Given the description of an element on the screen output the (x, y) to click on. 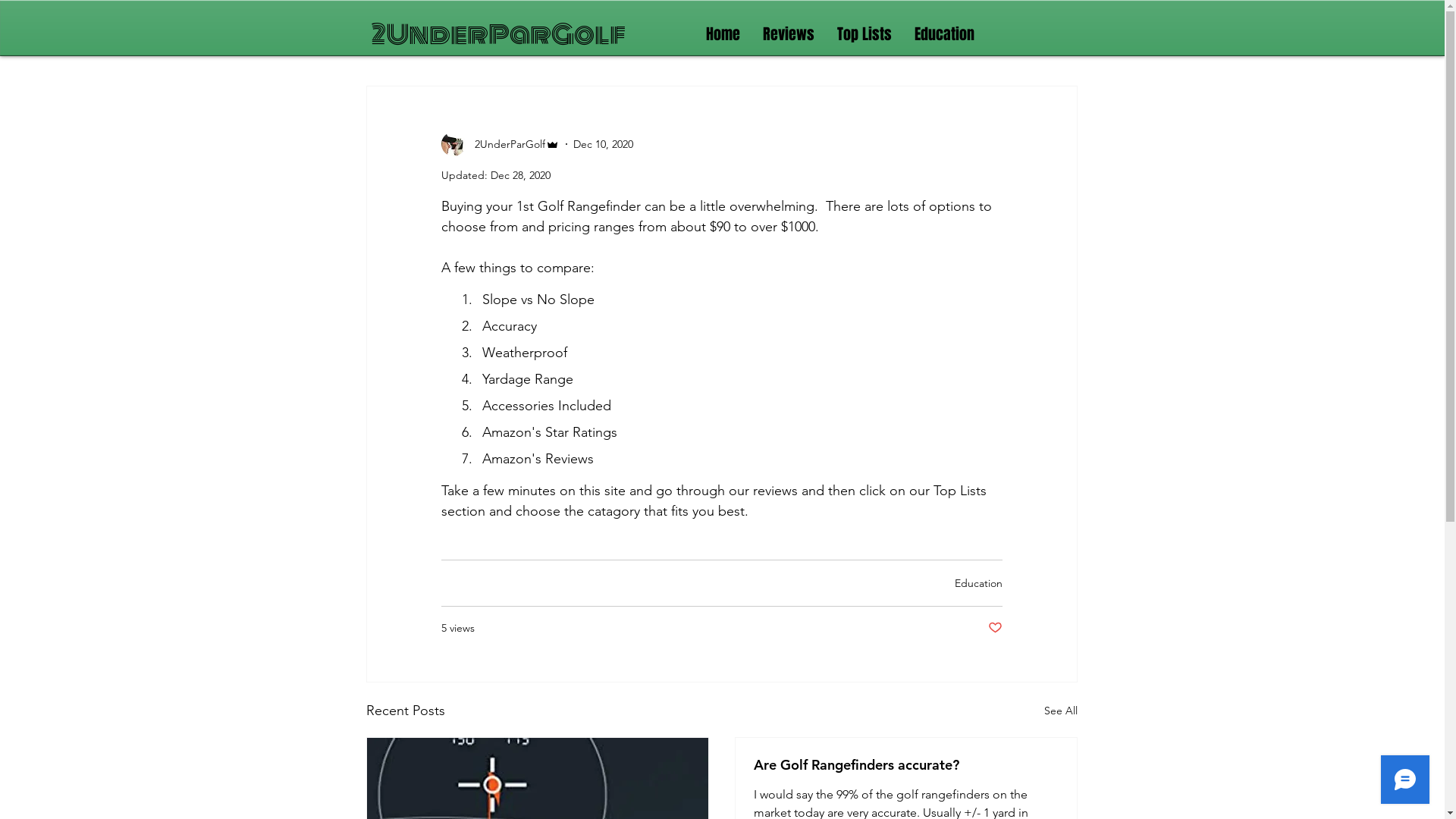
Home Element type: text (722, 34)
Education Element type: text (943, 34)
2UnderParGolf Element type: text (498, 34)
Reviews Element type: text (787, 34)
Post not marked as liked Element type: text (994, 628)
Education Element type: text (977, 582)
Are Golf Rangefinders accurate? Element type: text (905, 764)
Top Lists Element type: text (863, 34)
See All Element type: text (1059, 710)
